Given the description of an element on the screen output the (x, y) to click on. 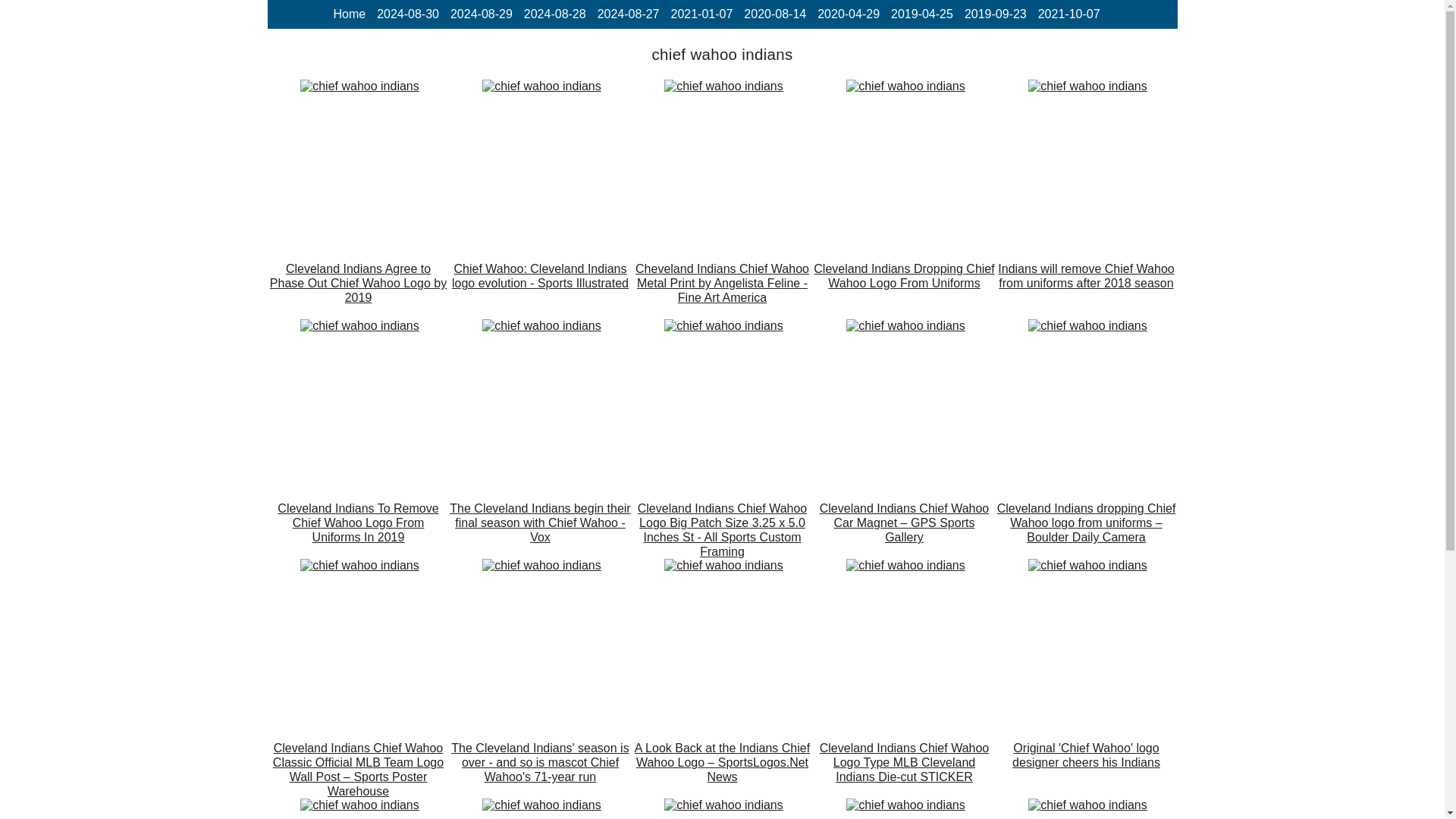
Home (349, 13)
2021-01-07 (700, 13)
2024-08-28 (555, 13)
